Given the description of an element on the screen output the (x, y) to click on. 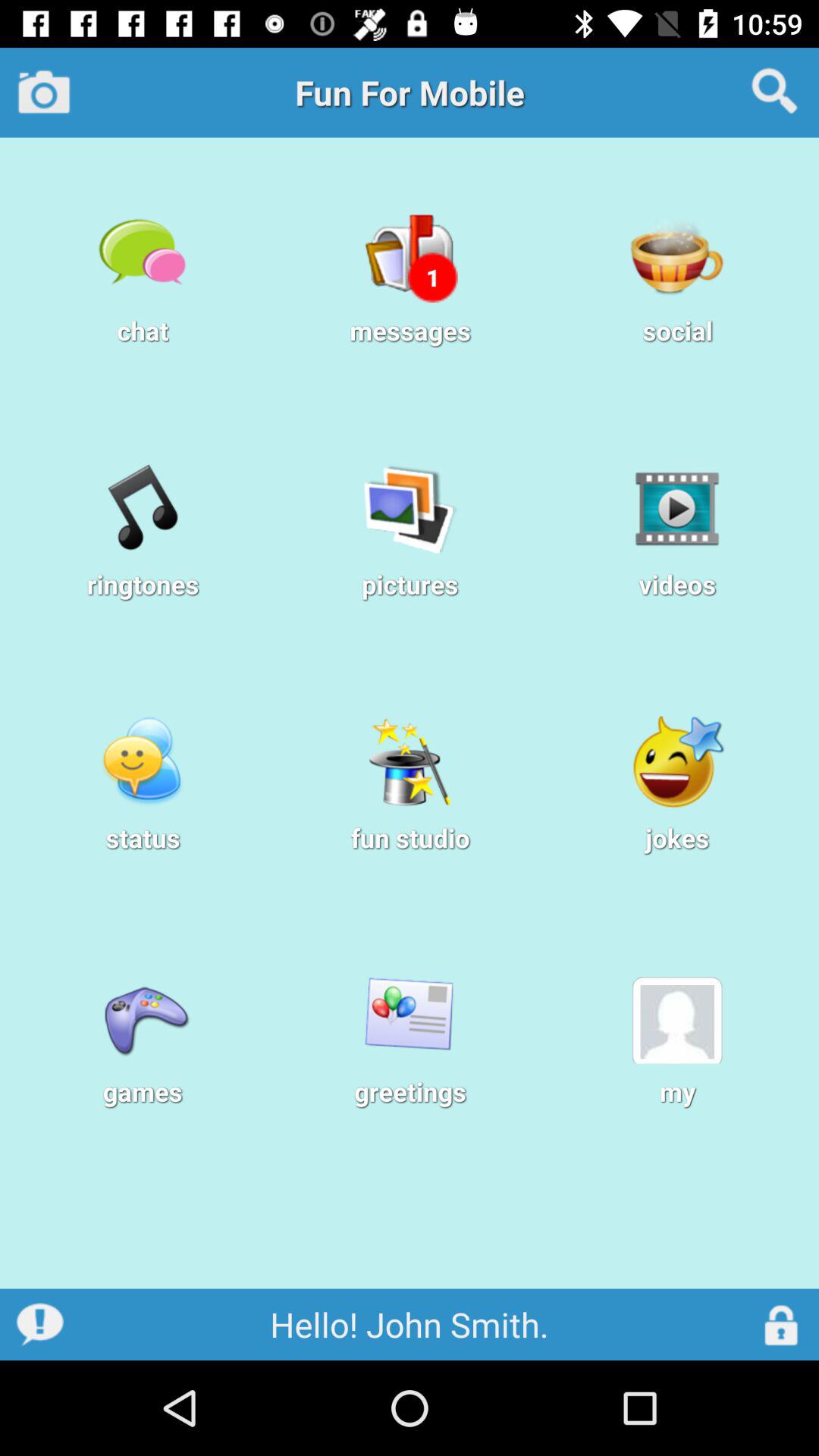
tap app to the right of fun for mobile icon (774, 91)
